Given the description of an element on the screen output the (x, y) to click on. 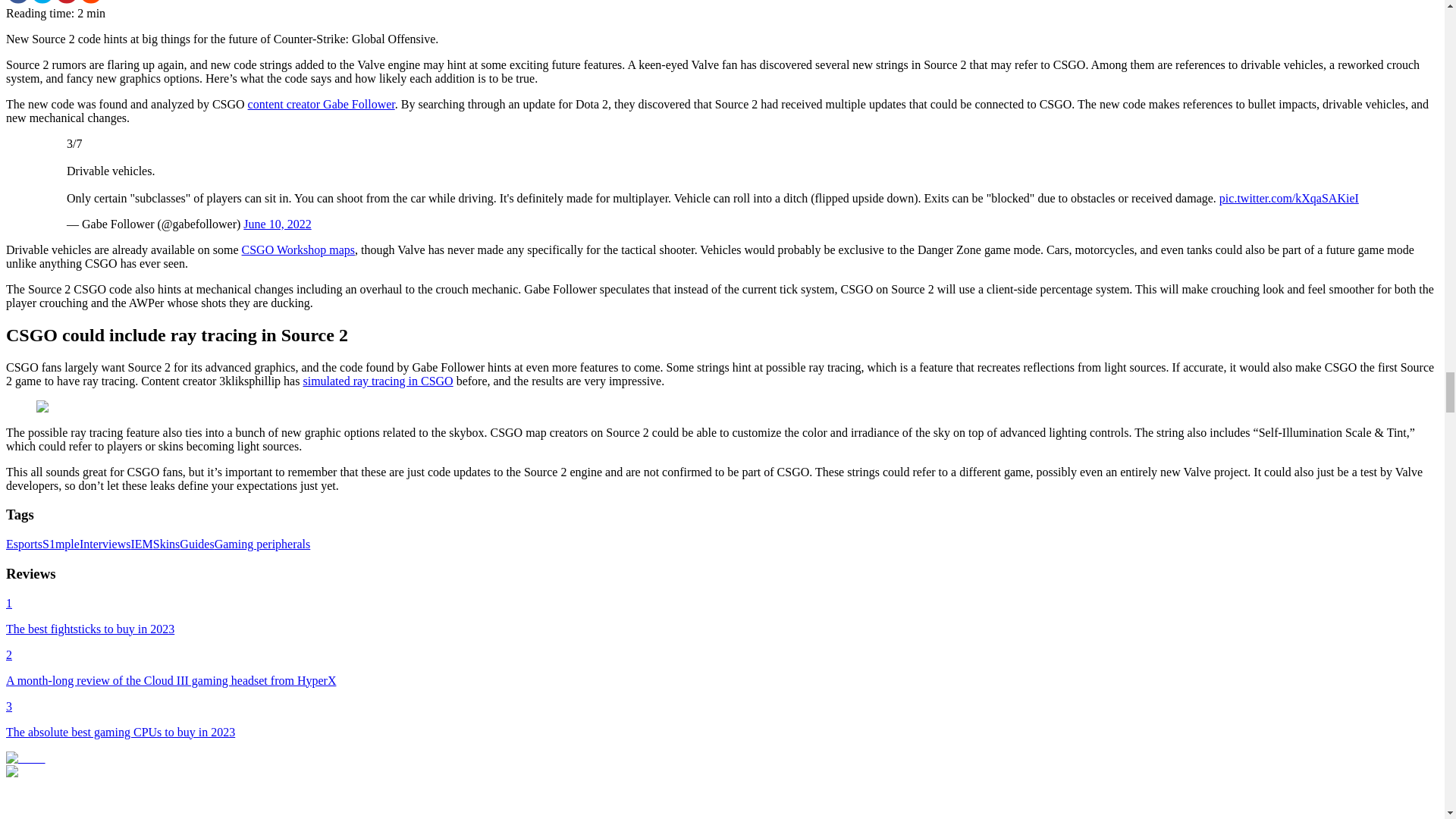
June 10, 2022 (277, 223)
Esports (23, 543)
Gaming peripherals (262, 543)
S1mple (61, 543)
Guides (196, 543)
content creator Gabe Follower (320, 103)
IEM (141, 543)
Interviews (105, 543)
Skins (166, 543)
CSGO Workshop maps (298, 249)
